Given the description of an element on the screen output the (x, y) to click on. 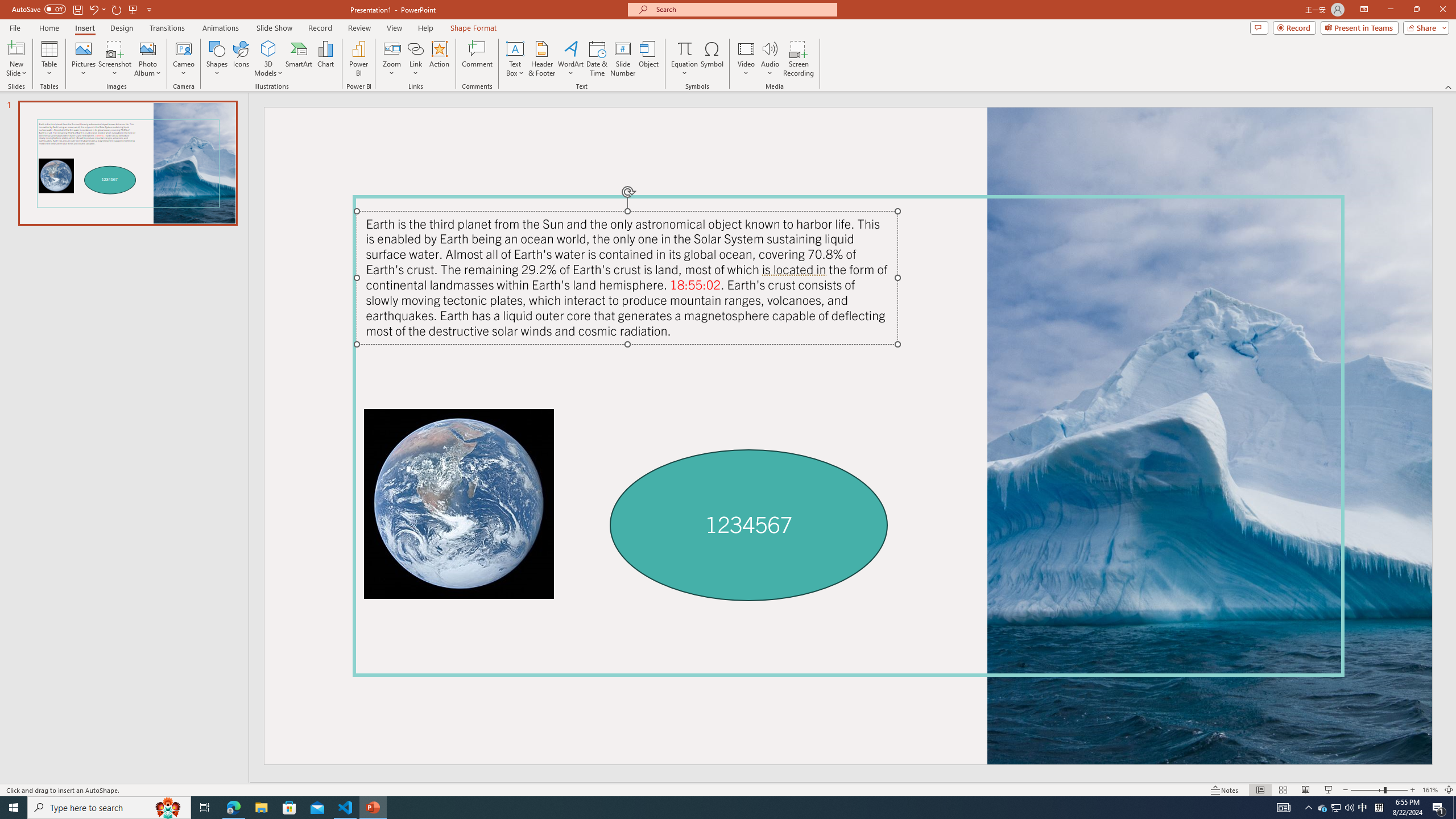
Comment (476, 58)
Table (49, 58)
Video (745, 58)
